Given the description of an element on the screen output the (x, y) to click on. 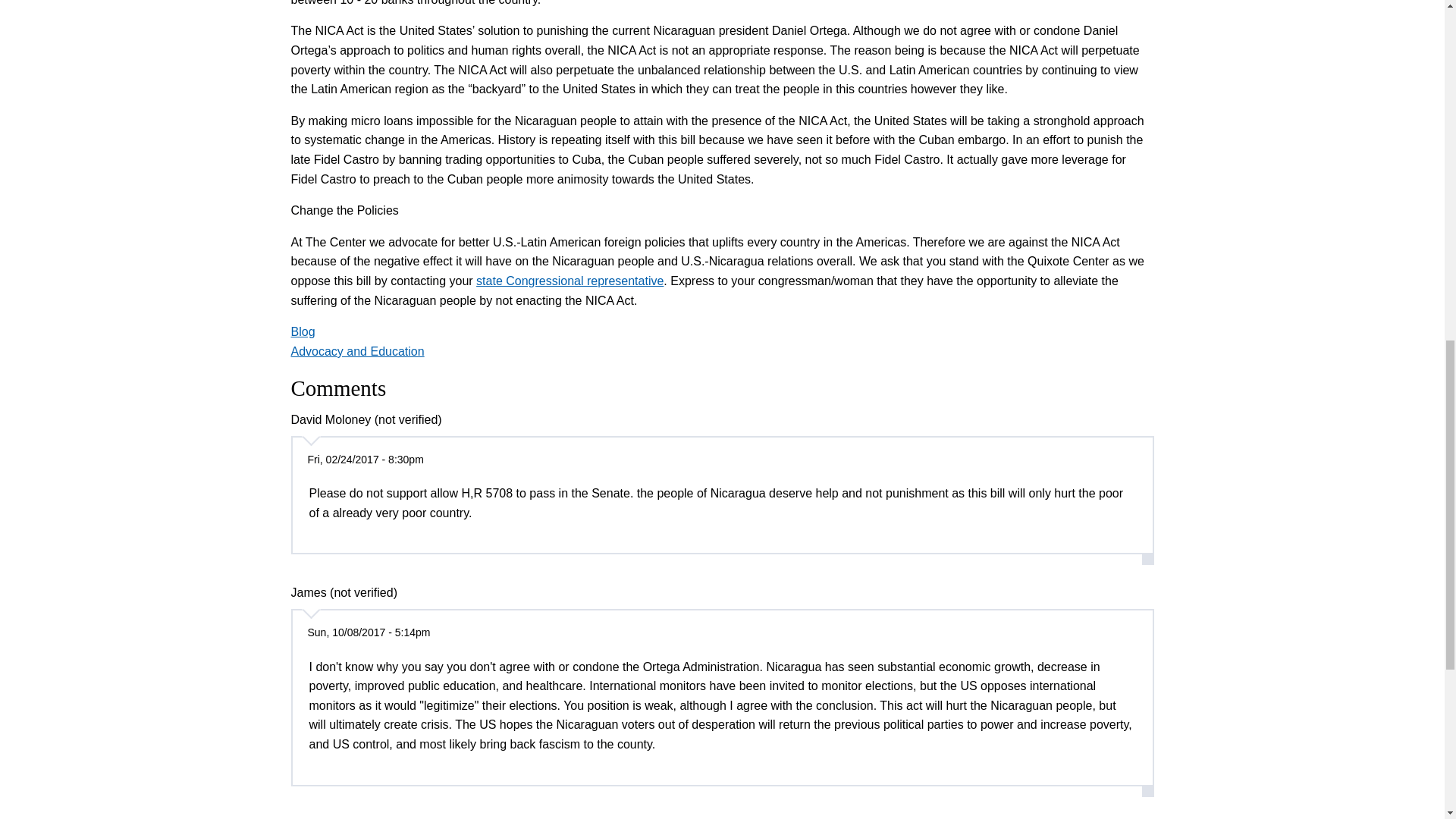
Blog (303, 331)
state Congressional representative (569, 280)
Advocacy and Education (358, 350)
